Given the description of an element on the screen output the (x, y) to click on. 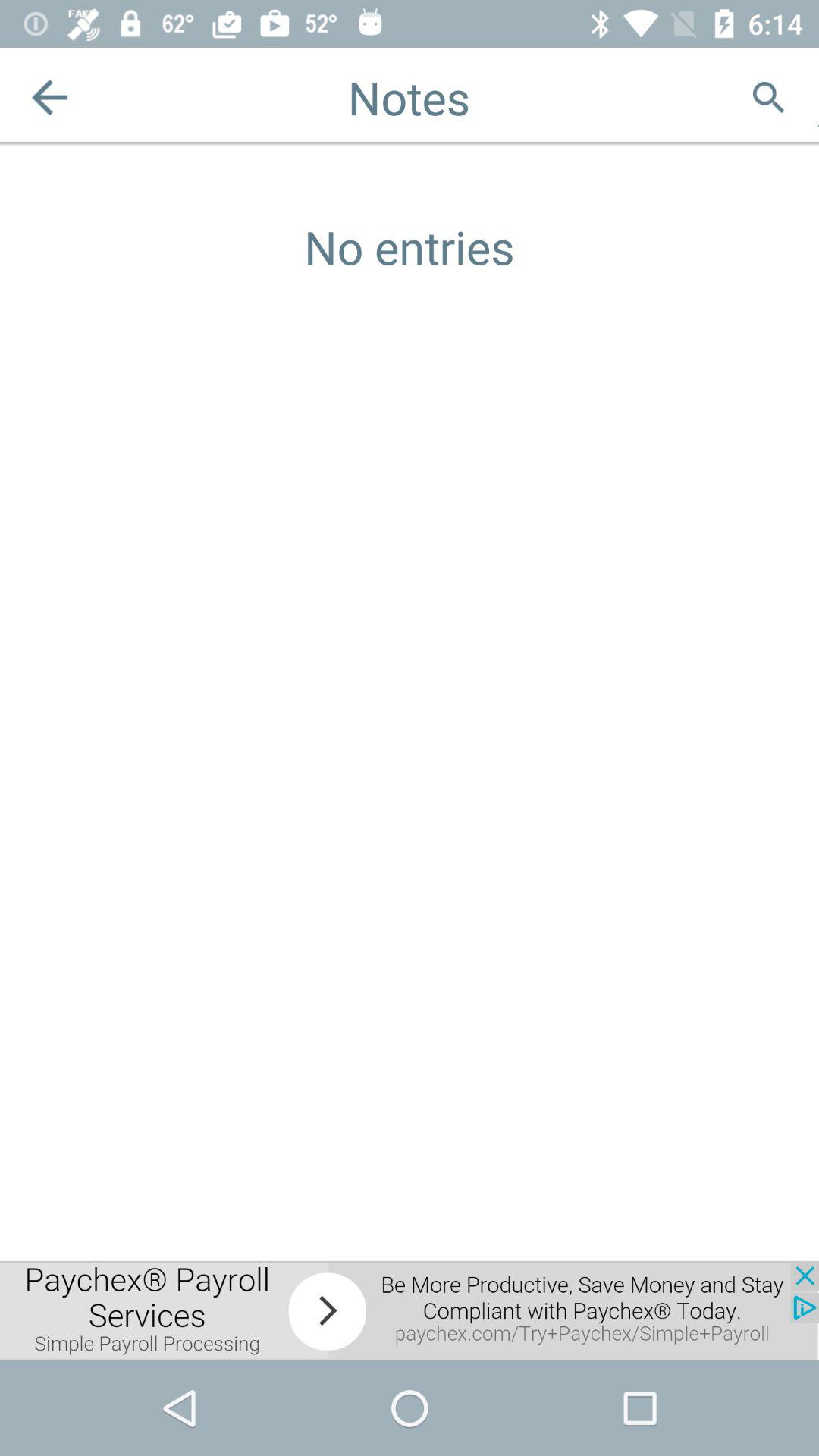
go back (49, 97)
